Given the description of an element on the screen output the (x, y) to click on. 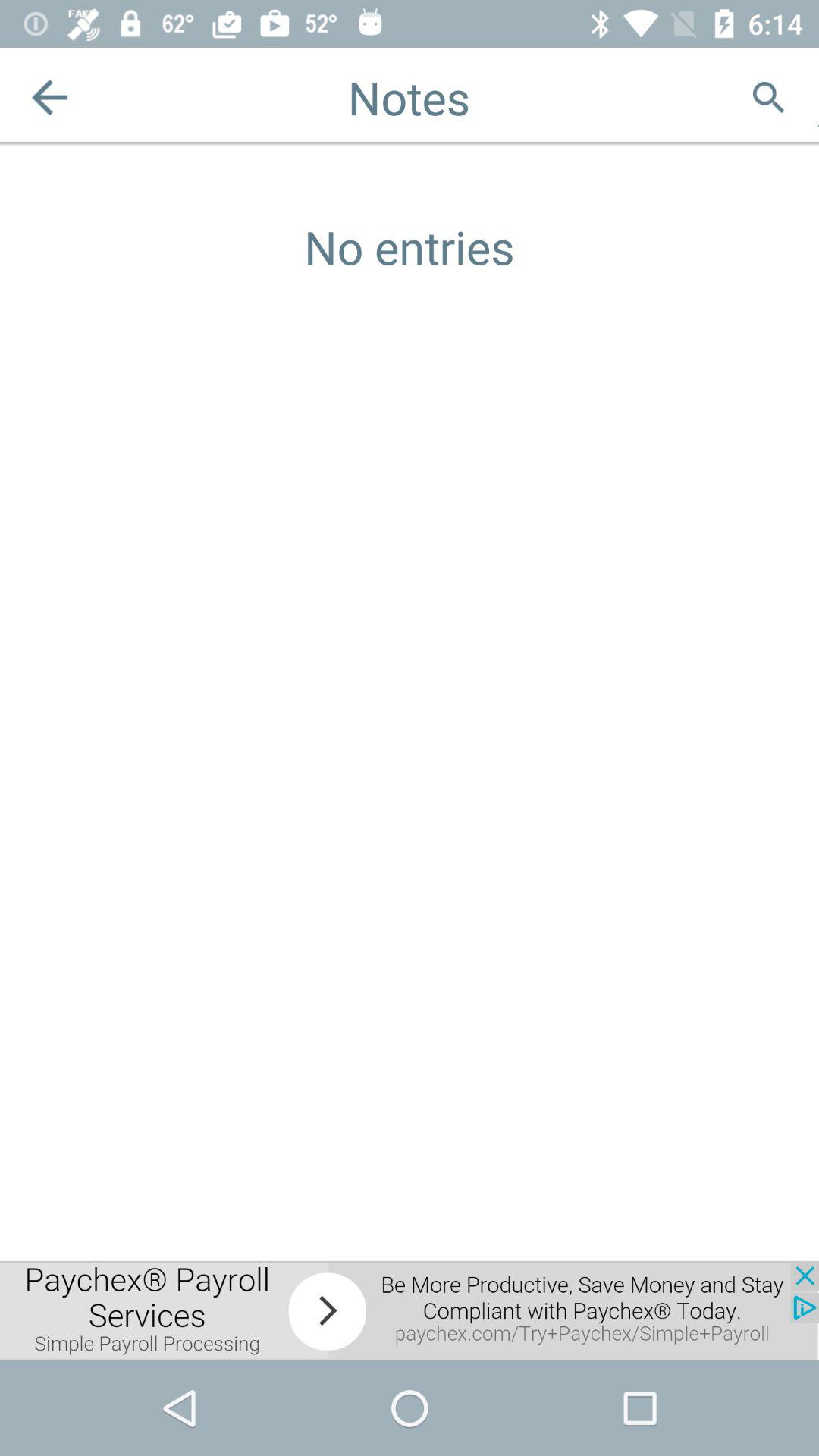
go back (49, 97)
